Given the description of an element on the screen output the (x, y) to click on. 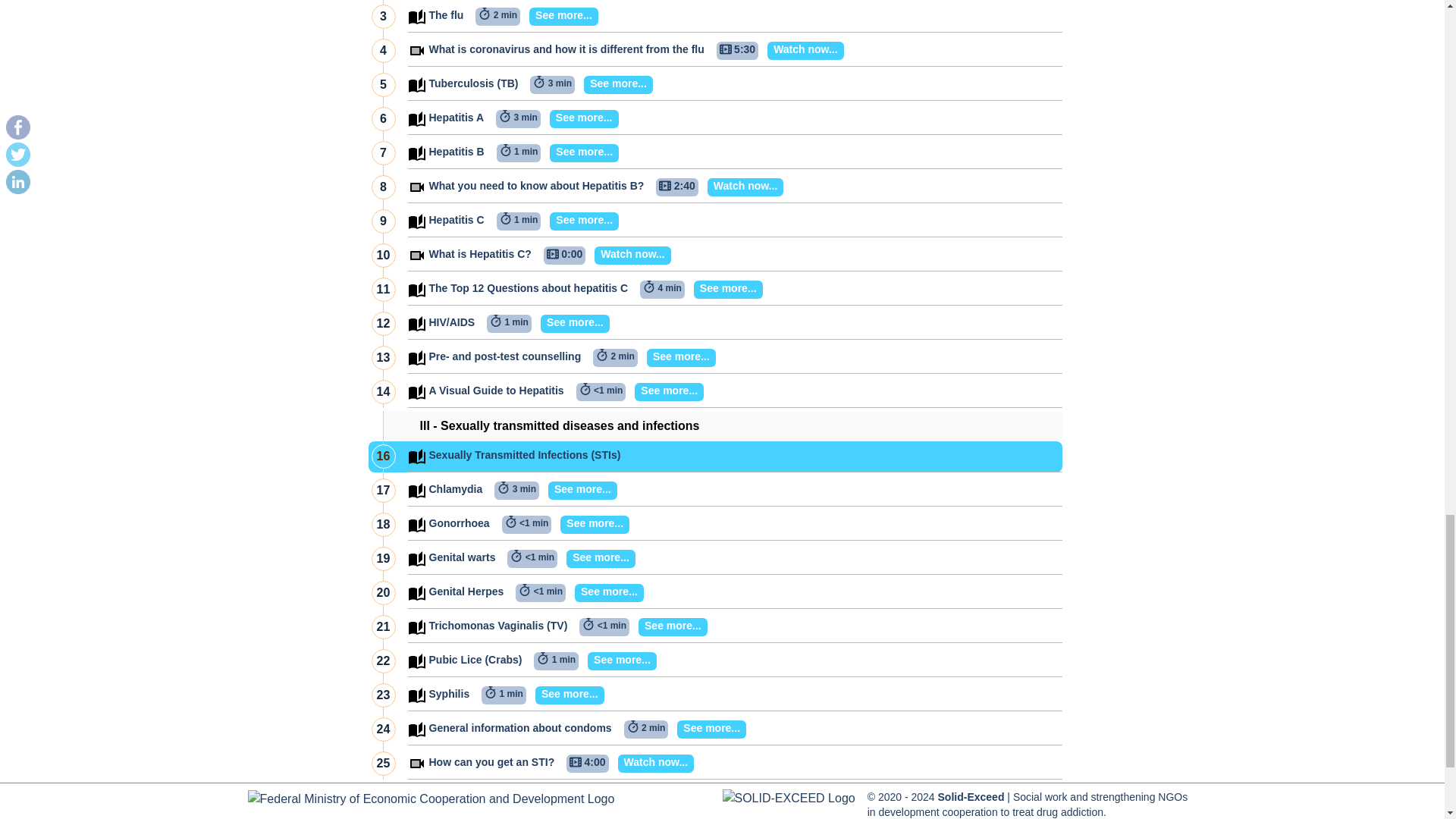
The flu (446, 16)
What is coronavirus and how it is different from the flu (566, 50)
See more... (613, 85)
See more... (558, 16)
Watch now... (801, 50)
Hepatitis A (456, 118)
